Given the description of an element on the screen output the (x, y) to click on. 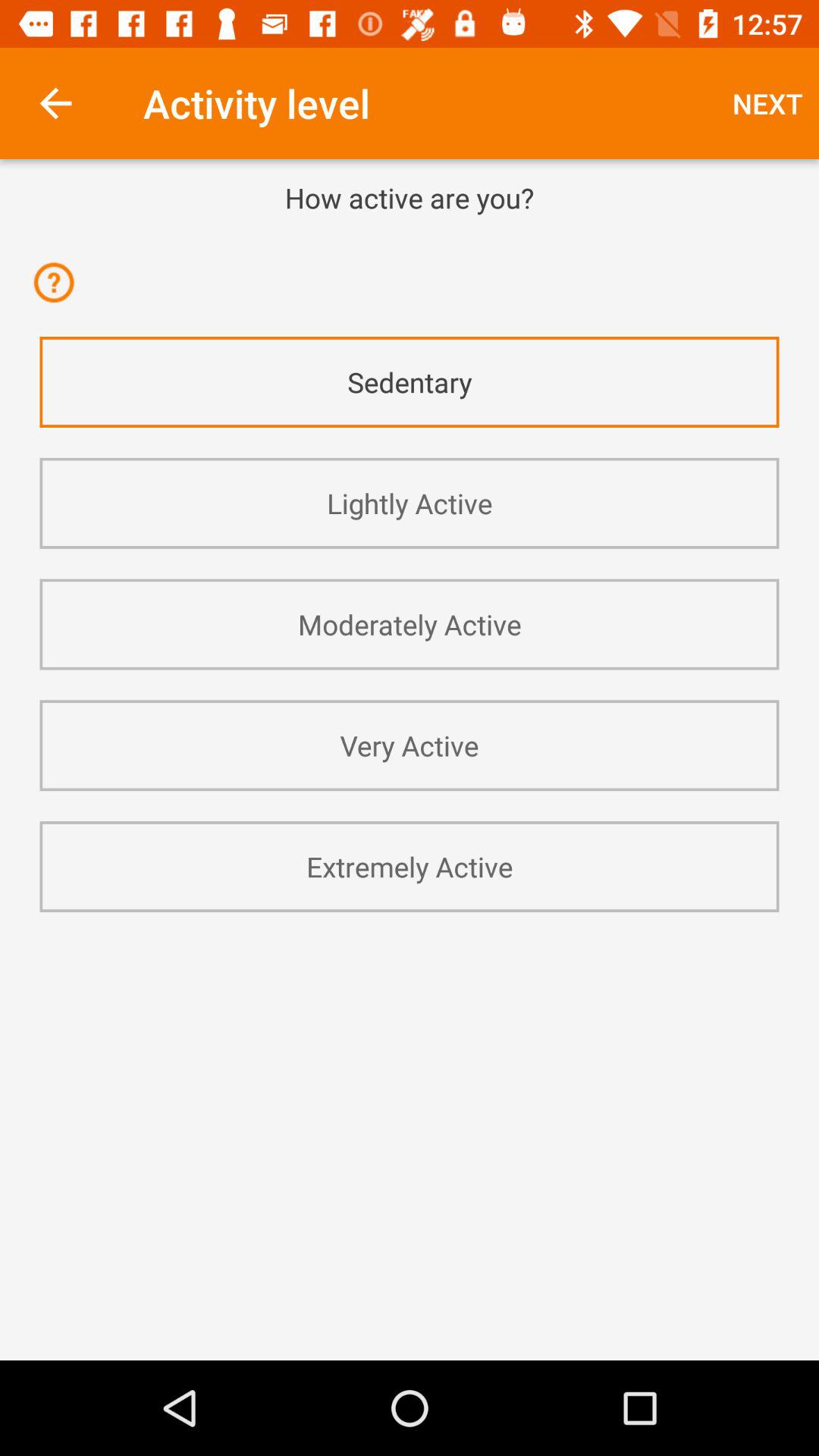
select the icon above the how active are (55, 103)
